Given the description of an element on the screen output the (x, y) to click on. 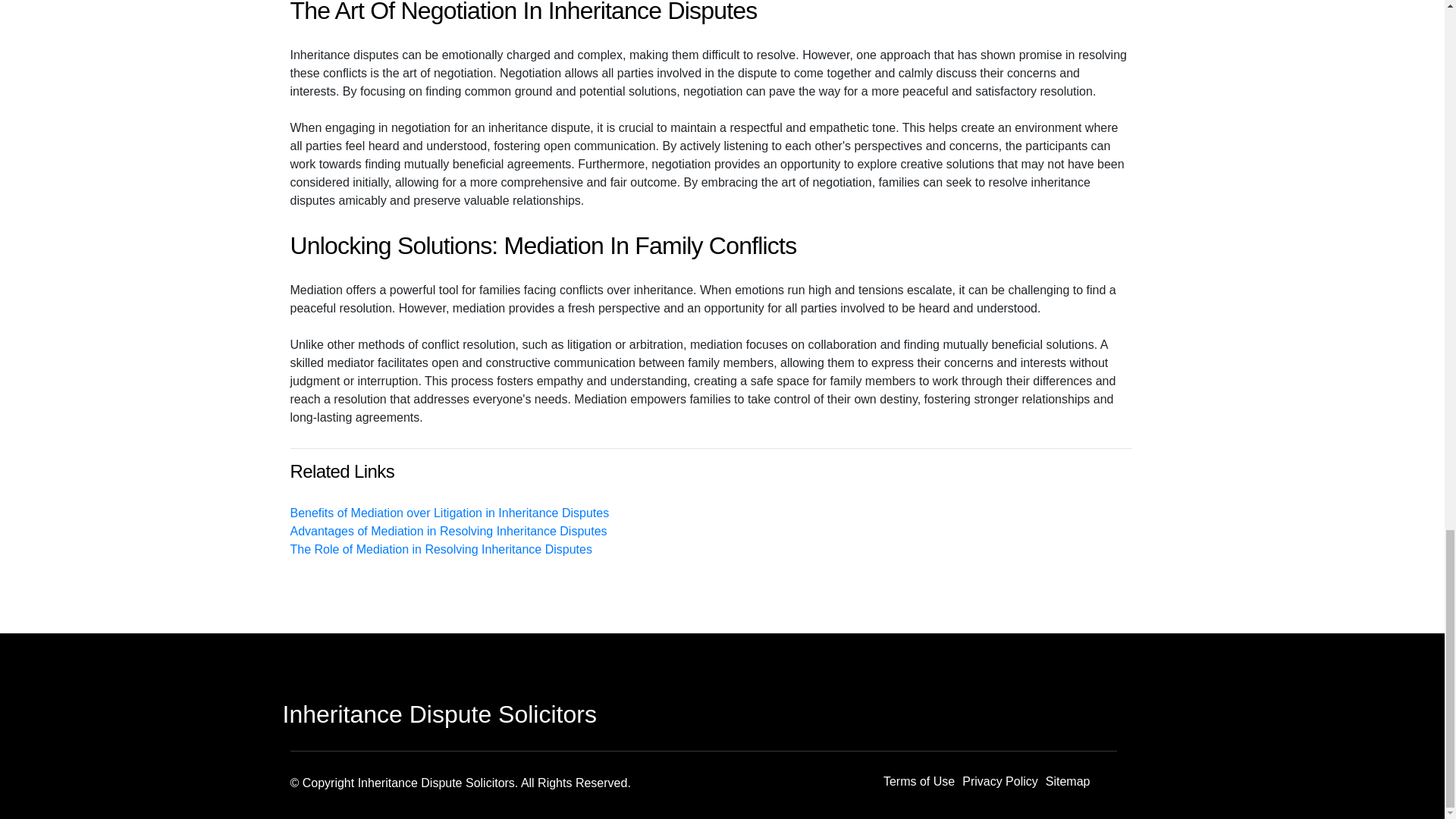
The Role of Mediation in Resolving Inheritance Disputes (440, 549)
Advantages of Mediation in Resolving Inheritance Disputes (448, 530)
